Given the description of an element on the screen output the (x, y) to click on. 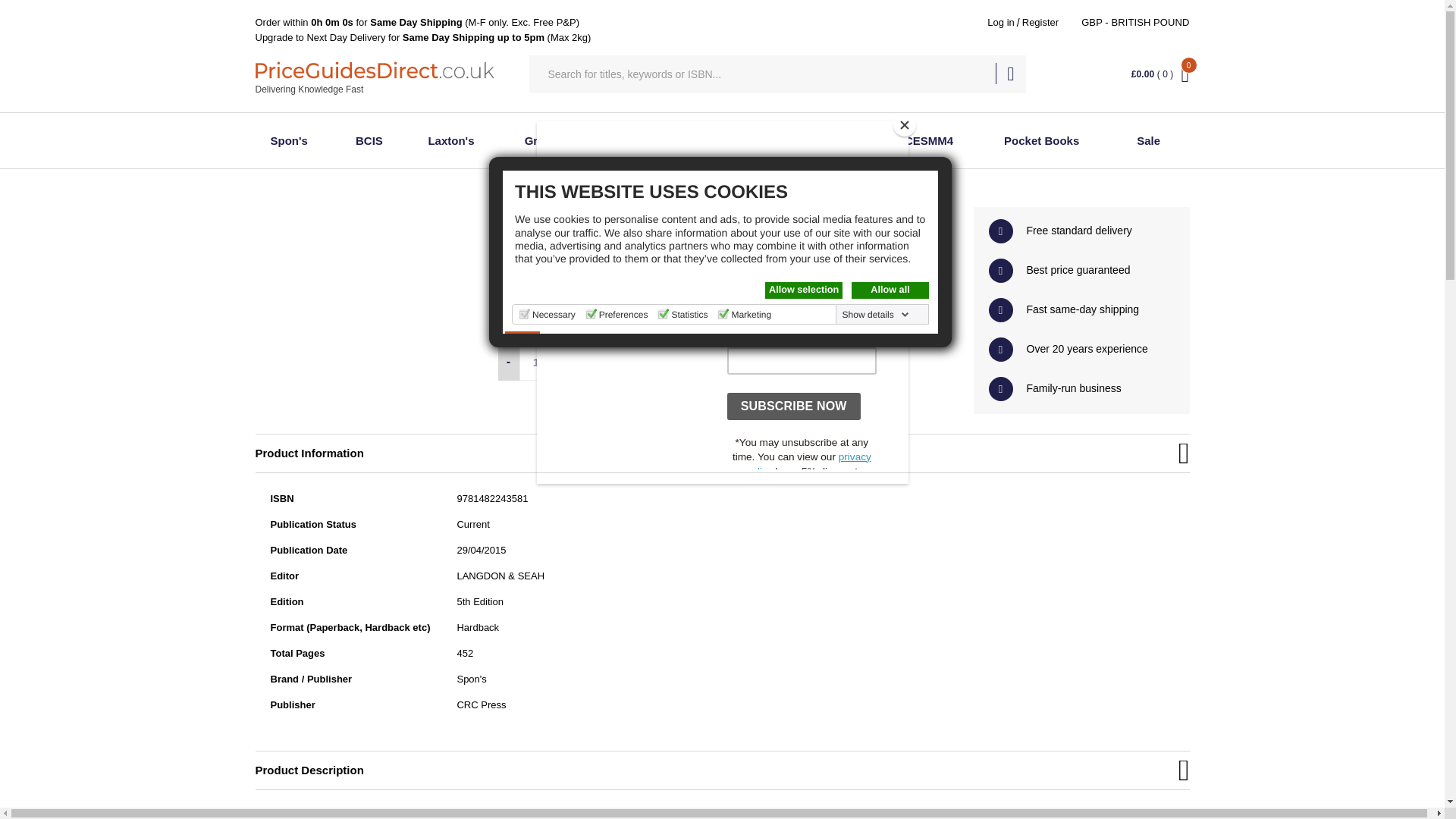
Show details (876, 314)
1 (535, 361)
on (590, 314)
Allow all (889, 289)
on (524, 314)
Allow selection (804, 289)
on (663, 314)
on (722, 314)
